Given the description of an element on the screen output the (x, y) to click on. 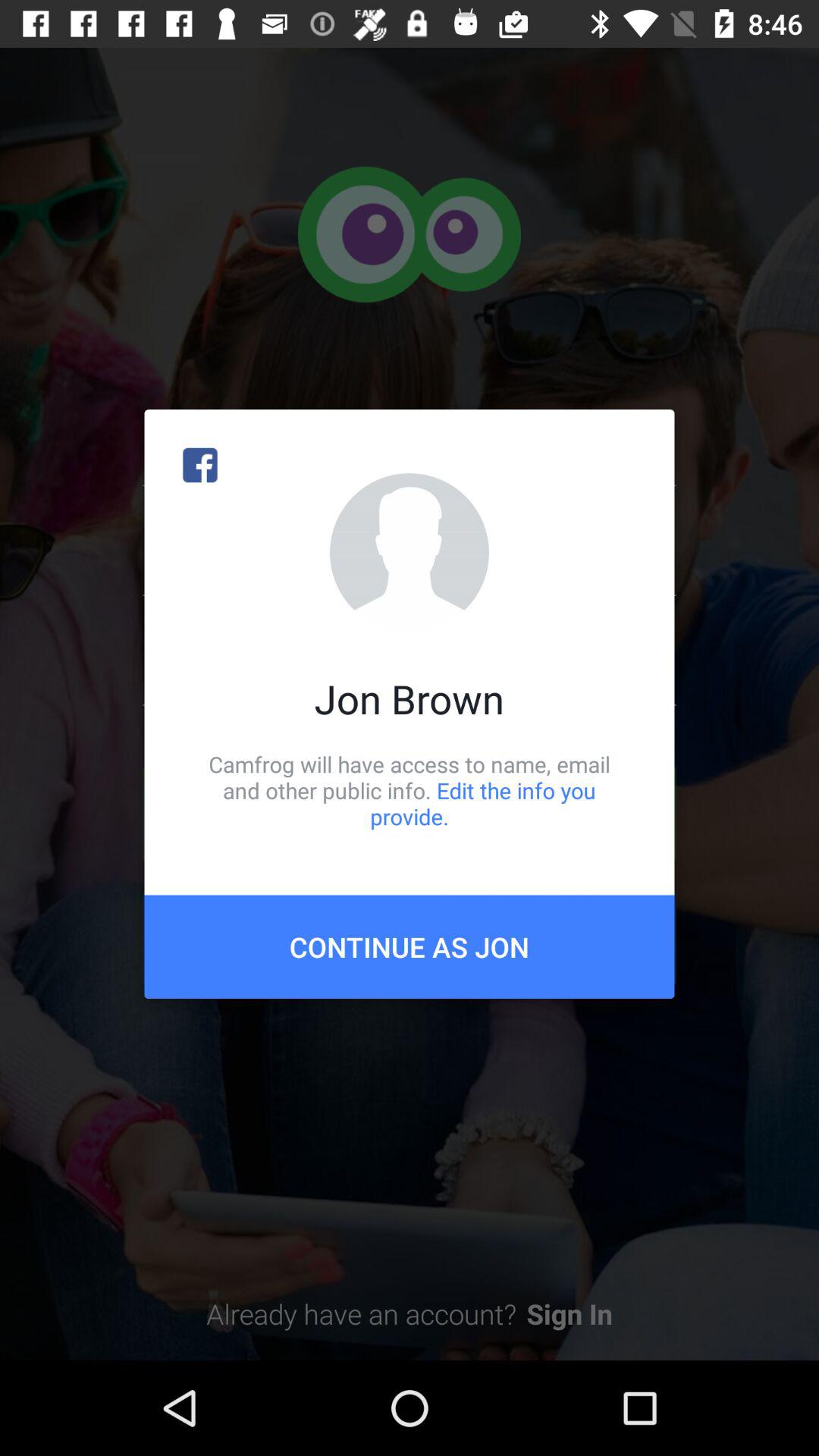
flip until continue as jon icon (409, 946)
